Given the description of an element on the screen output the (x, y) to click on. 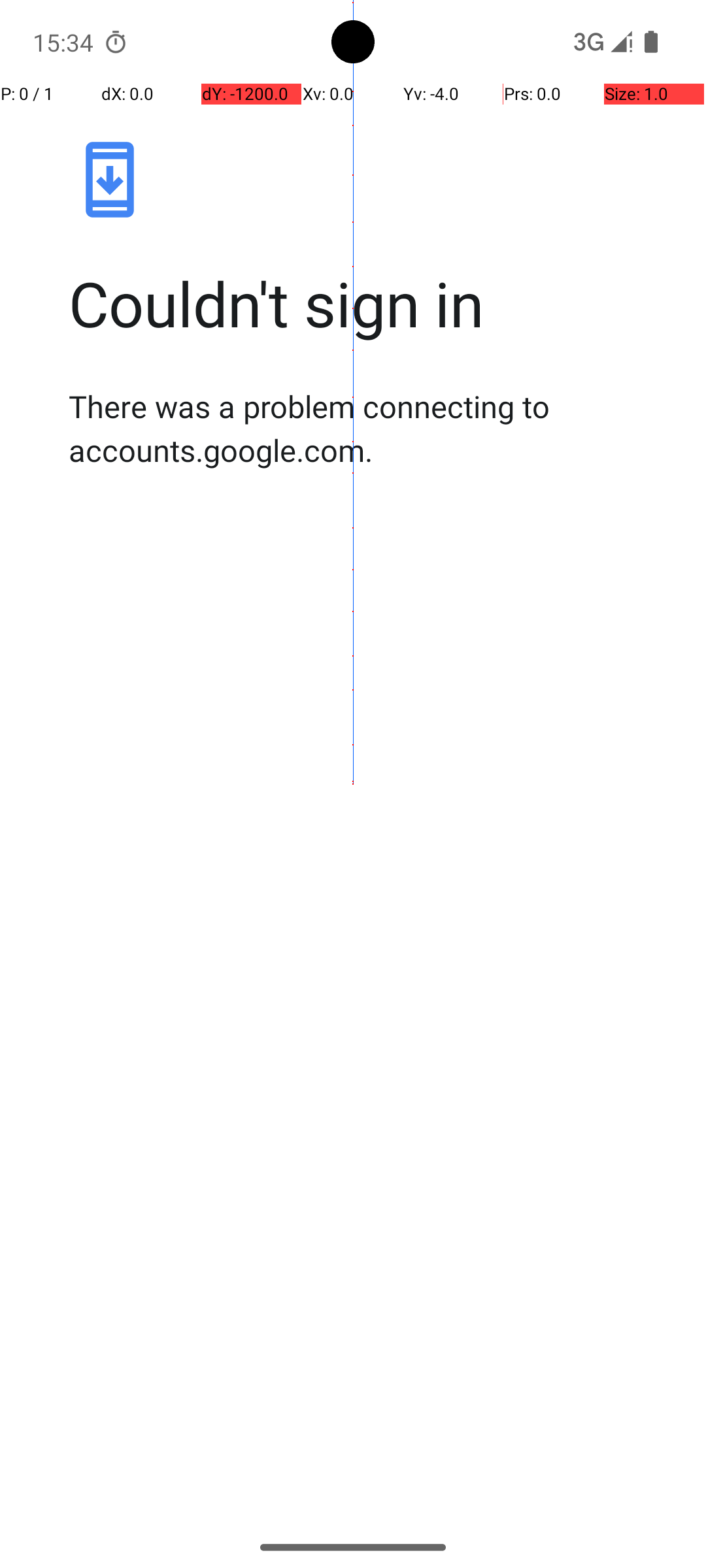
Couldn't sign in Element type: android.widget.TextView (366, 302)
There was a problem connecting to accounts.google.com. Element type: android.widget.TextView (366, 427)
